Given the description of an element on the screen output the (x, y) to click on. 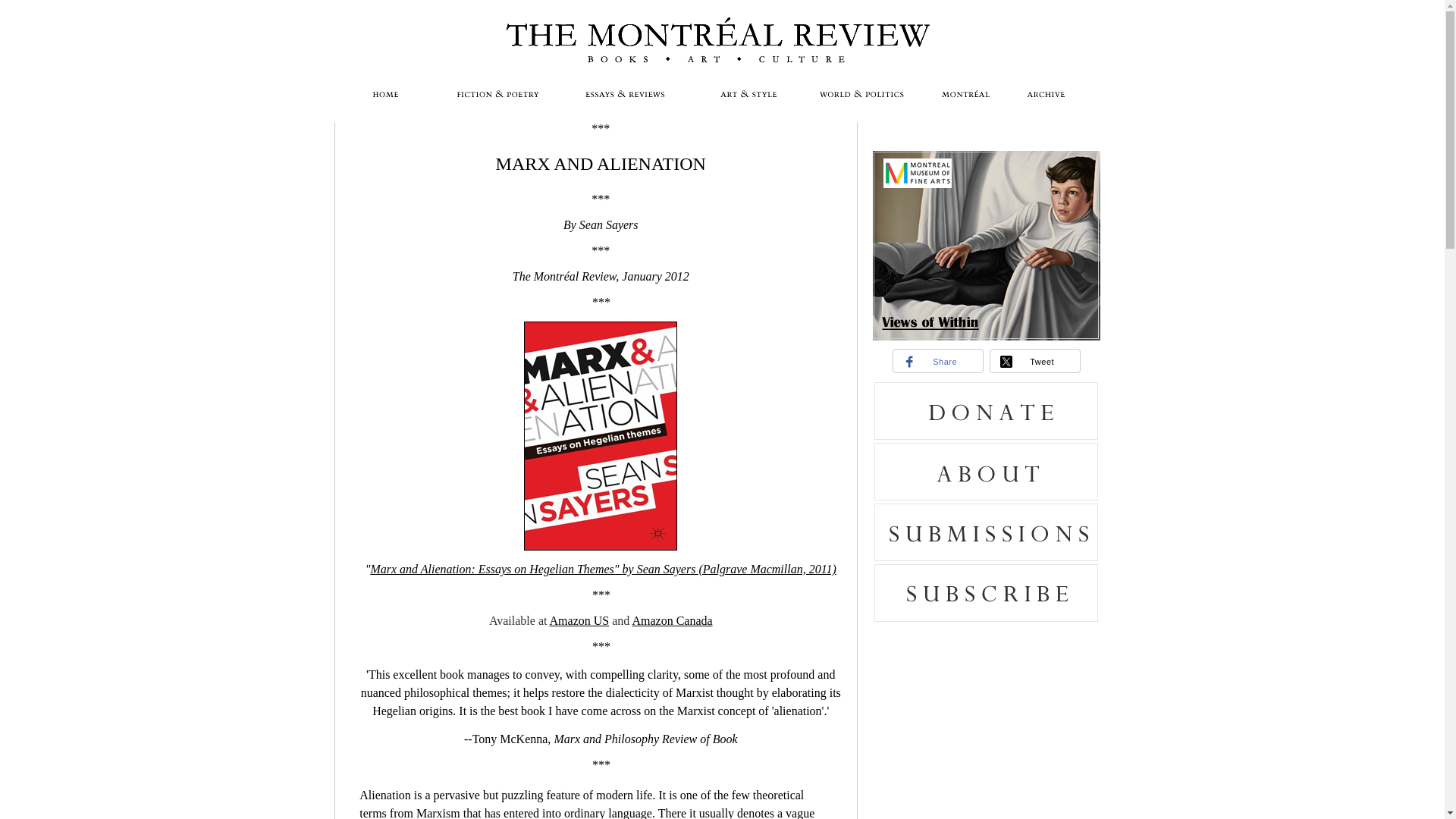
Amazon Canada (671, 620)
Amazon US (580, 620)
Marx and Alienation: Essays on Hegelian Themes" (495, 568)
